Given the description of an element on the screen output the (x, y) to click on. 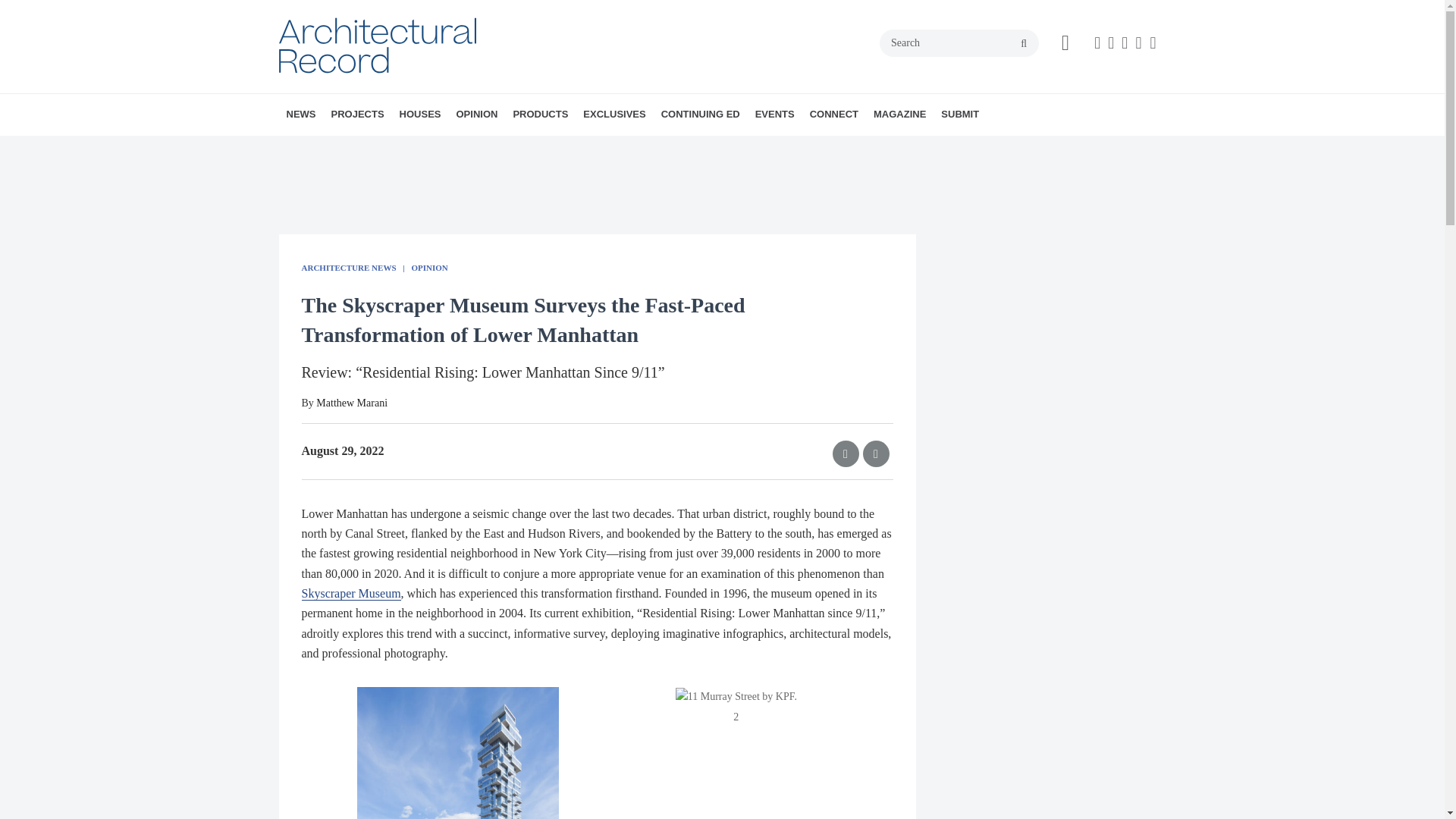
INTERIORS (445, 147)
EXHIBITION REVIEWS (550, 147)
LATEST NEWS (373, 147)
Search (959, 42)
OBITUARIES (391, 147)
HOUSES (419, 114)
INTERVIEWS (386, 147)
RECORD HOUSES (485, 147)
OPINION (476, 114)
search (1023, 43)
PODCASTS (397, 147)
FEATURED HOUSES (499, 147)
AWARDS (380, 147)
LIGHTING (449, 147)
NEWS (301, 114)
